Given the description of an element on the screen output the (x, y) to click on. 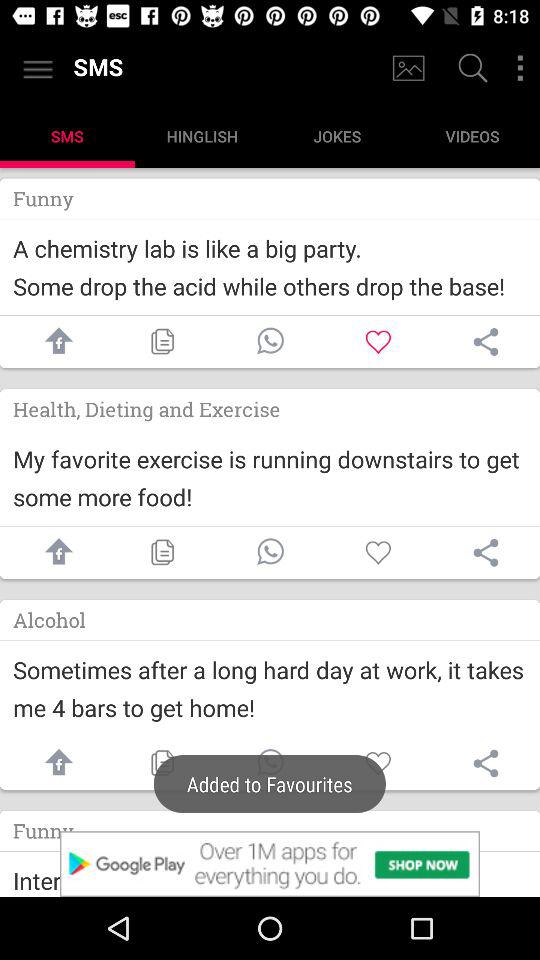
copy (162, 763)
